Given the description of an element on the screen output the (x, y) to click on. 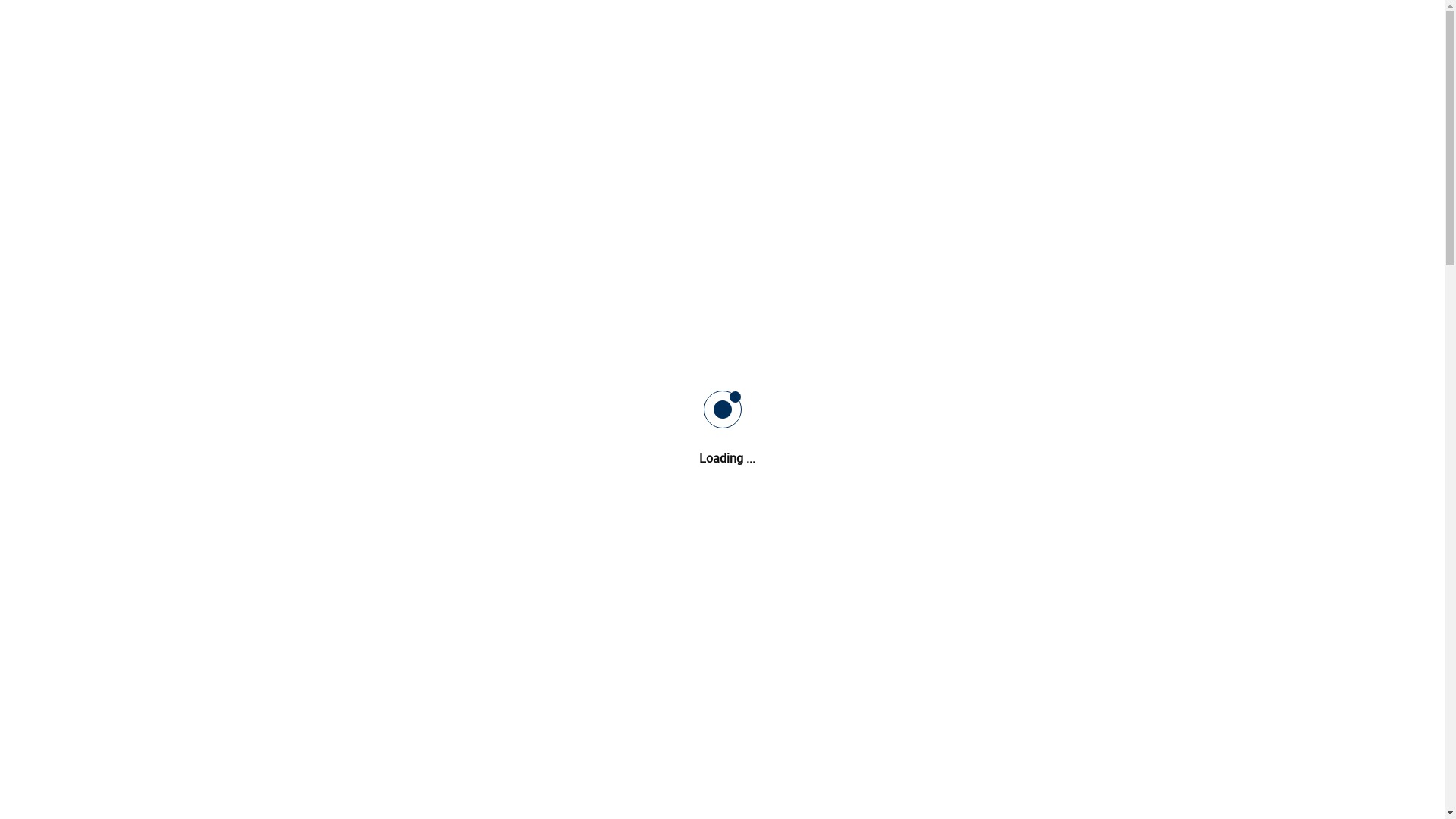
CONTACT Element type: text (926, 129)
HOME Element type: text (508, 129)
The director of Emerge Contracting Element type: text (384, 641)
TILT UP PANEL WORK Element type: text (828, 129)
BUILDING & CONSTRUCTION Element type: text (678, 129)
ABOUT Element type: text (563, 129)
